Given the description of an element on the screen output the (x, y) to click on. 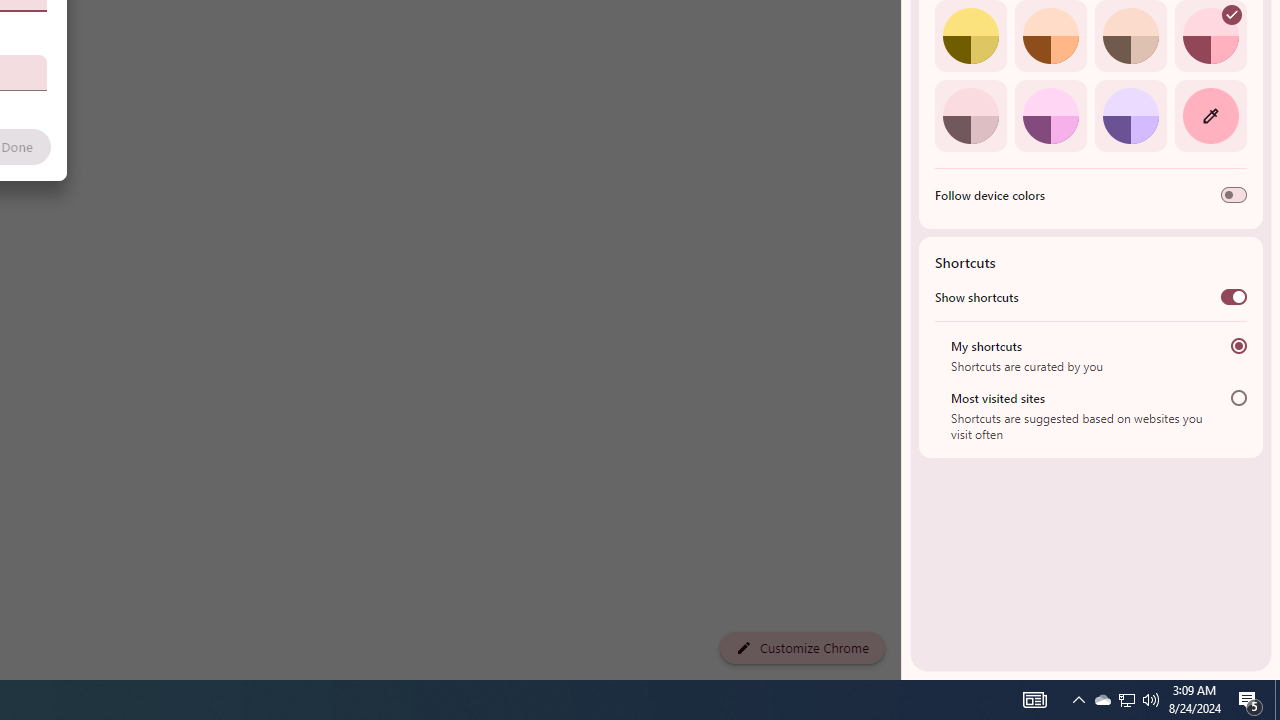
Fuchsia (1050, 115)
Violet (1130, 115)
Pink (970, 115)
My shortcuts (1238, 345)
Show shortcuts (1233, 296)
AutomationID: svg (1231, 15)
Rose (1210, 36)
Follow device colors (1233, 195)
Side Panel Resize Handle (905, 39)
Citron (970, 36)
Orange (1050, 36)
Most visited sites (1238, 398)
Apricot (1130, 36)
Custom color (1210, 115)
